Given the description of an element on the screen output the (x, y) to click on. 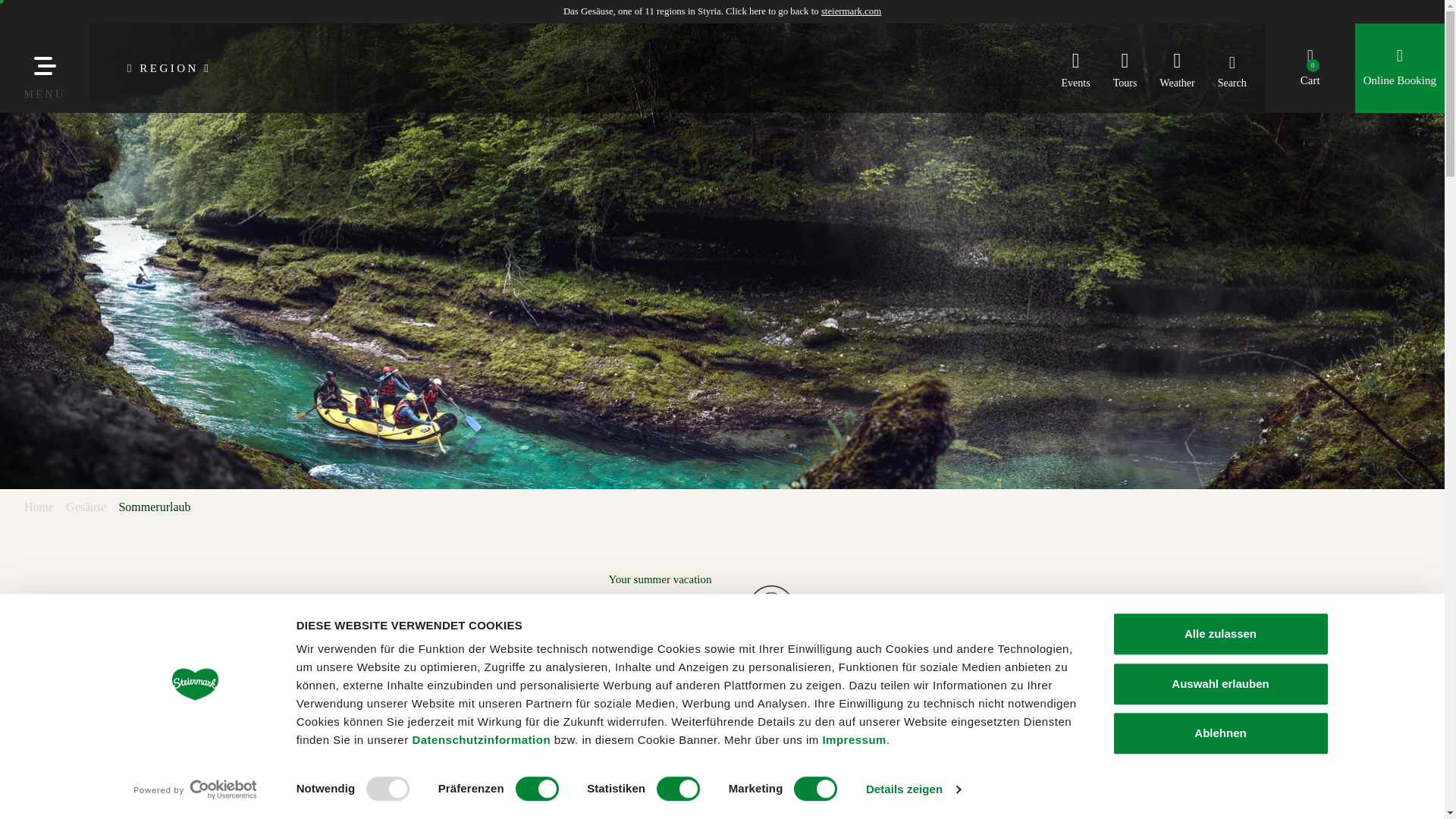
Impressum (854, 739)
Datenschutzinformation (481, 739)
Details zeigen (913, 789)
